Given the description of an element on the screen output the (x, y) to click on. 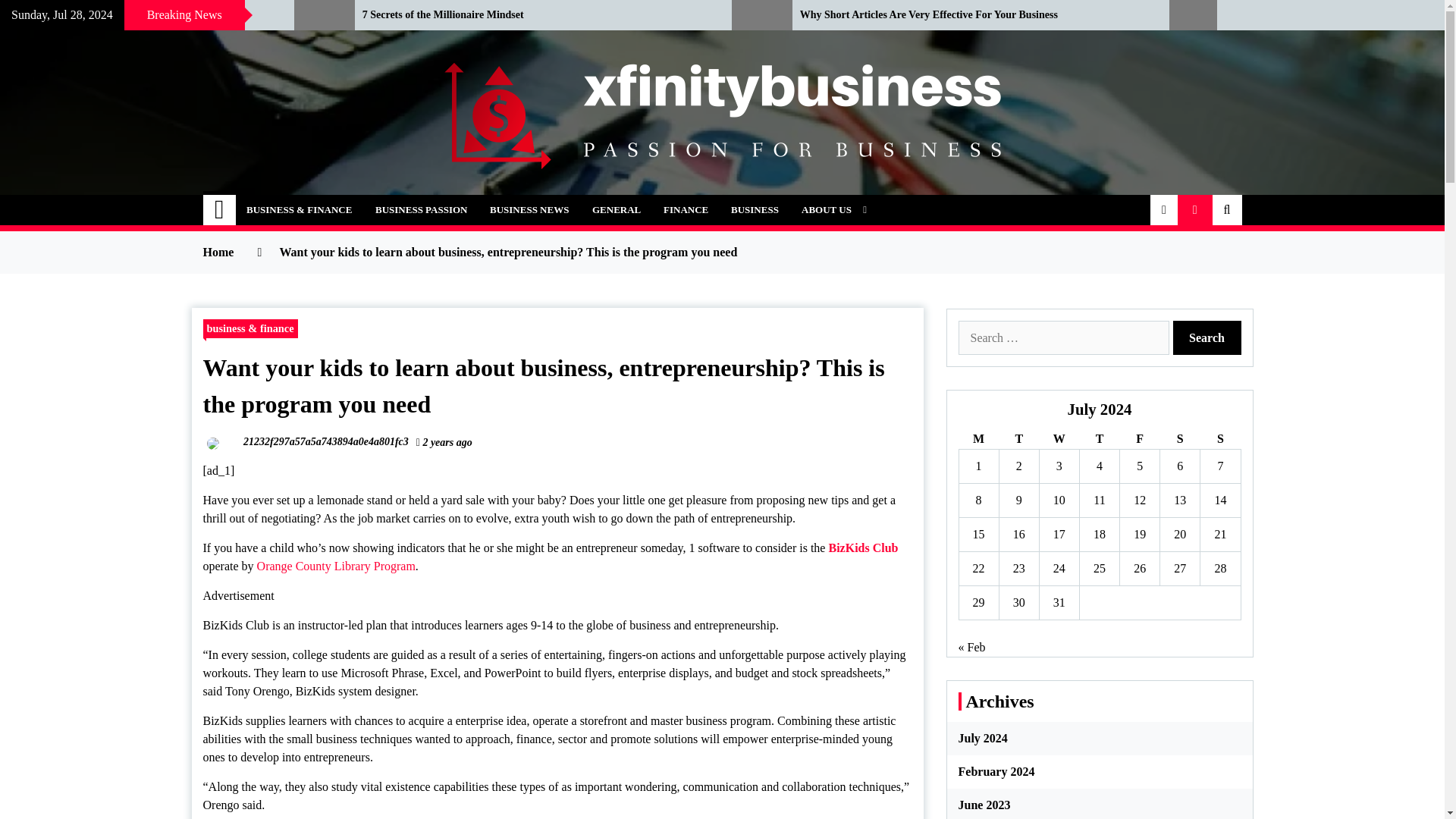
Poker and the Stock Market (135, 15)
Wednesday (1058, 439)
7 Secrets of the Millionaire Mindset (535, 15)
Home (219, 209)
Monday (978, 439)
Tuesday (1018, 439)
Why Short Articles Are Very Effective For Your Business (973, 15)
Search (1206, 337)
Friday (1139, 439)
Saturday (1179, 439)
Search (1206, 337)
Sunday (1219, 439)
Thursday (1098, 439)
